Given the description of an element on the screen output the (x, y) to click on. 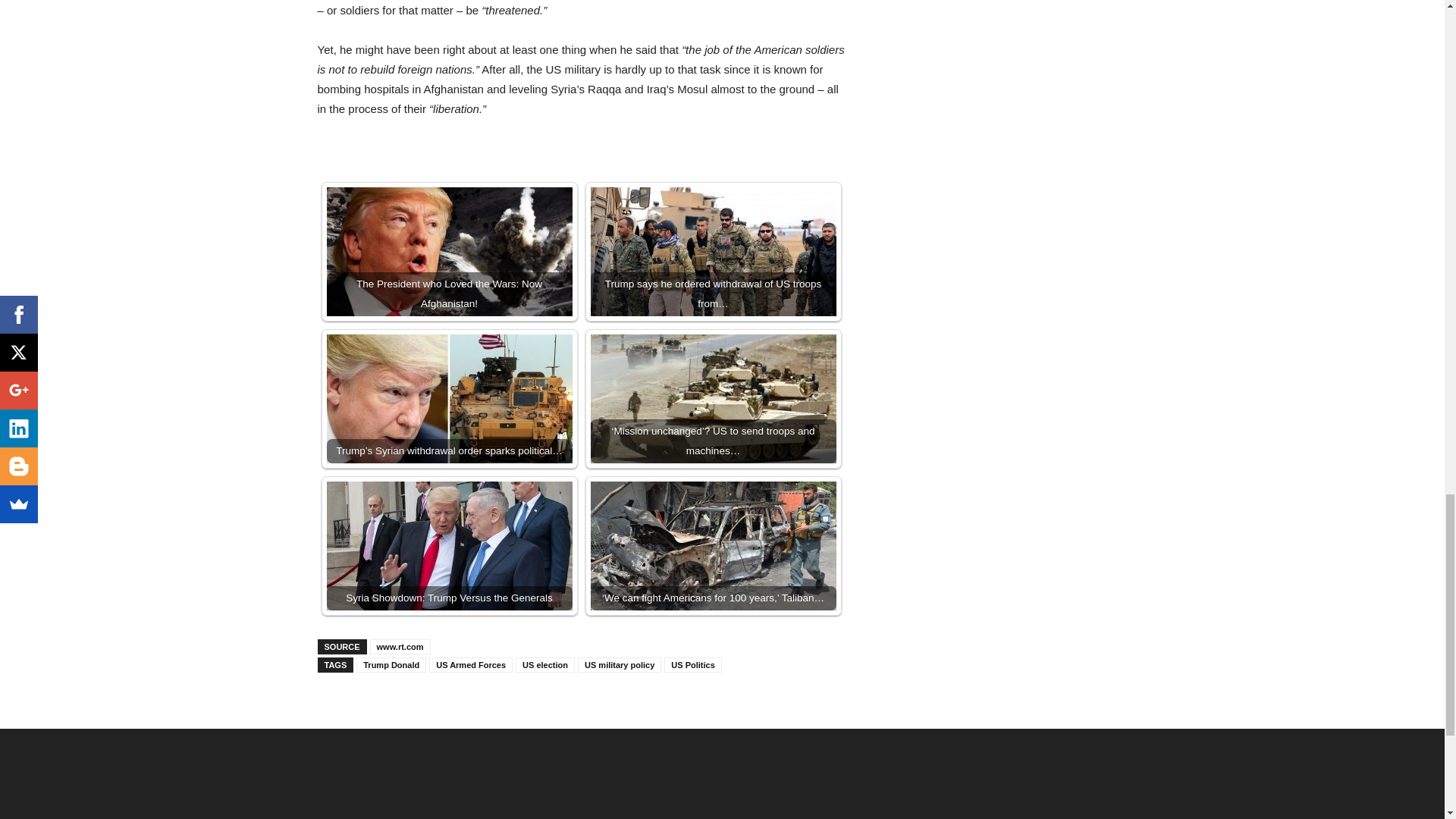
Syria Showdown: Trump Versus the Generals (449, 545)
The President who Loved the Wars: Now Afghanistan! (449, 251)
